Given the description of an element on the screen output the (x, y) to click on. 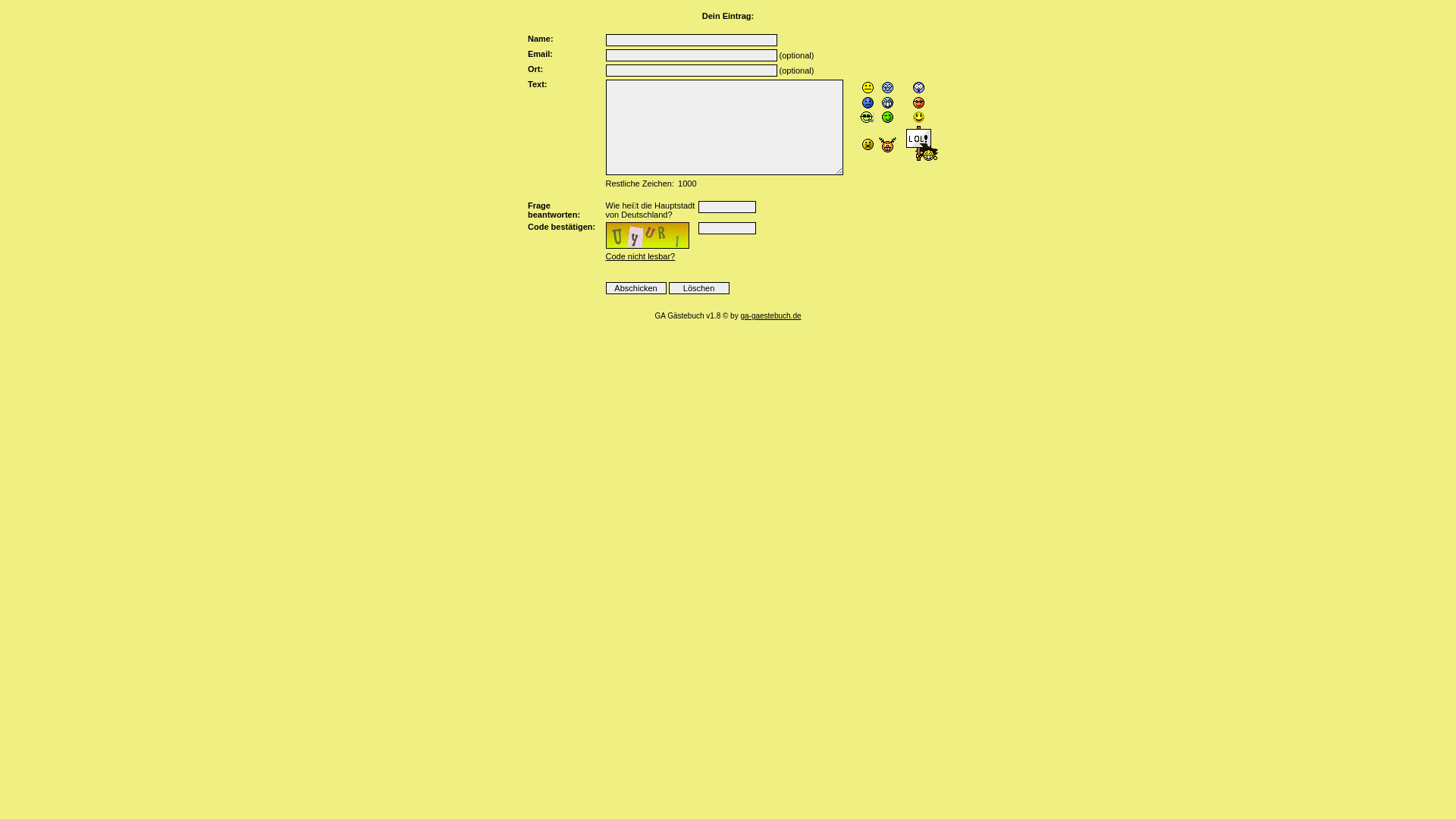
8-) Element type: hover (918, 102)
Code nicht lesbar? Element type: text (639, 255)
:-O Element type: hover (918, 87)
::( Element type: hover (887, 143)
:-) Element type: hover (918, 116)
:-L Element type: hover (867, 116)
Abschicken Element type: text (635, 288)
;-) Element type: hover (887, 116)
ga-gaestebuch.de Element type: text (770, 315)
:lol: Element type: hover (918, 144)
:-X Element type: hover (867, 144)
:-( Element type: hover (887, 87)
:-D Element type: hover (887, 102)
:-P Element type: hover (867, 87)
